Given the description of an element on the screen output the (x, y) to click on. 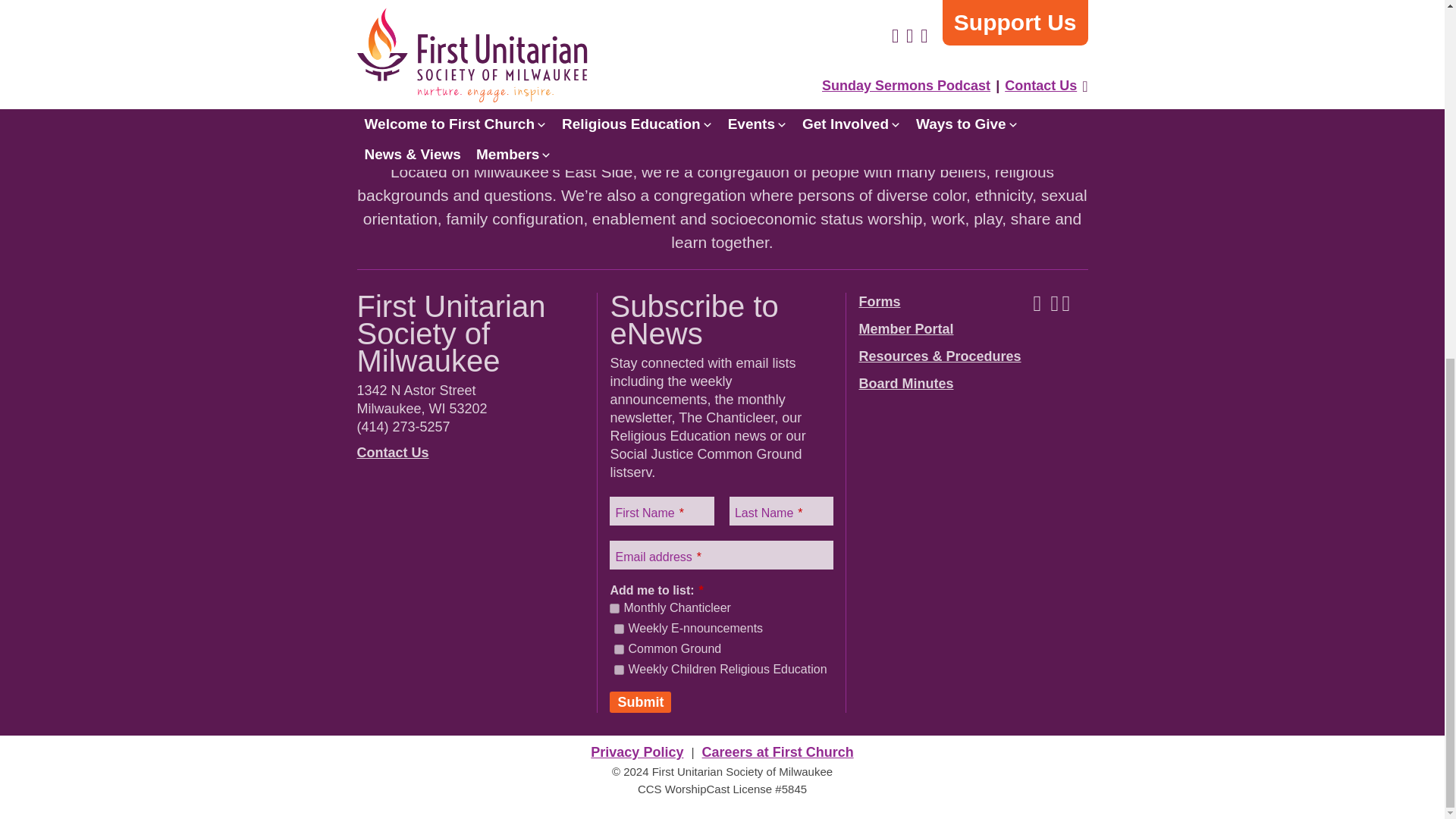
Common Ground (619, 649)
CRE Families (619, 669)
Submit (640, 701)
Chanticleer (615, 608)
E-nnouncements (619, 628)
